Given the description of an element on the screen output the (x, y) to click on. 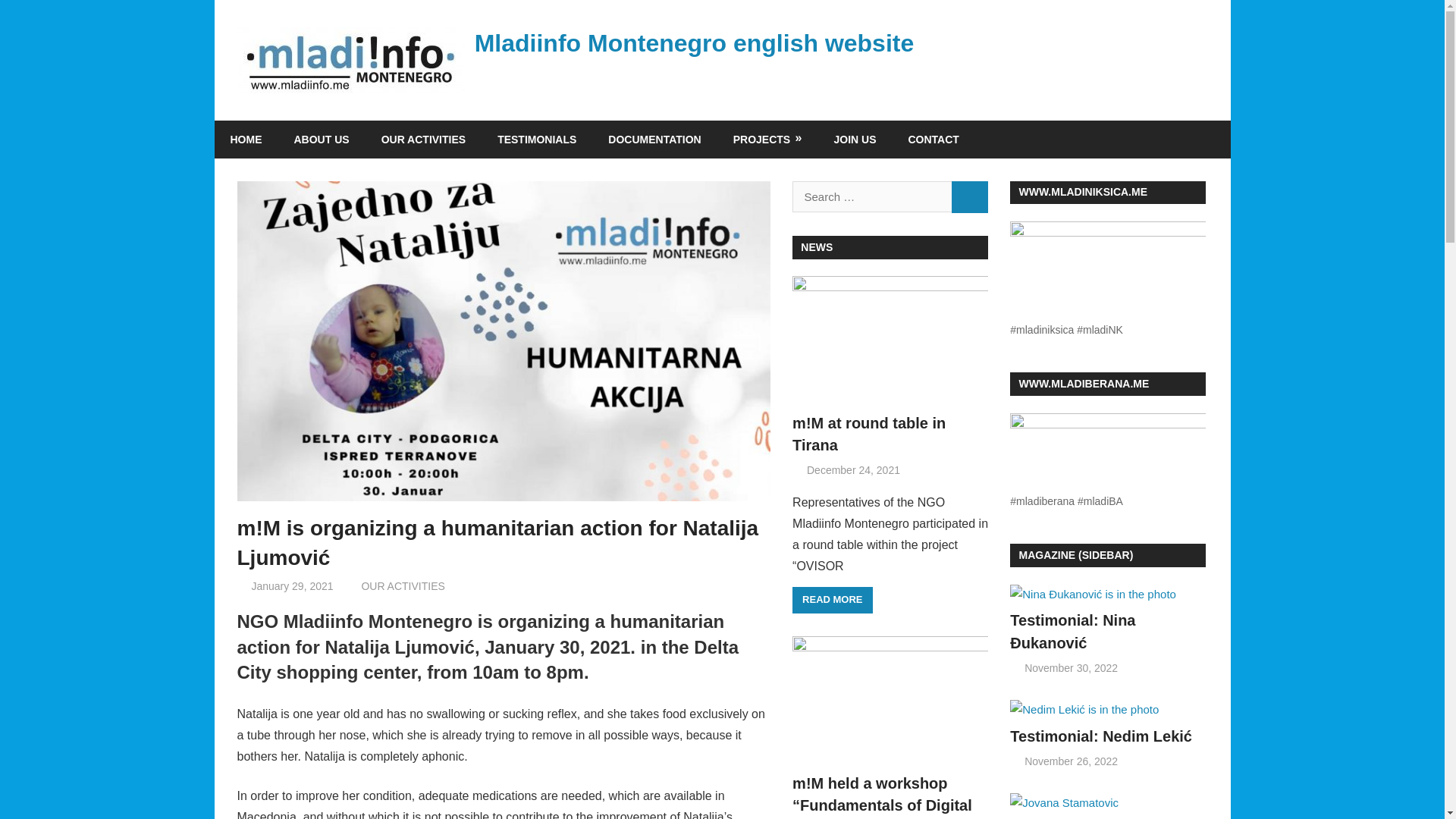
PROJECTS (767, 139)
OUR ACTIVITIES (423, 139)
Mladiinfo ENG (392, 585)
JOIN US (853, 139)
11:00 (1071, 667)
Search for: (872, 196)
Mladiinfo Montenegro english website (694, 42)
m!M at round table in Tirana (868, 433)
11:53 (291, 585)
READ MORE (832, 600)
